Given the description of an element on the screen output the (x, y) to click on. 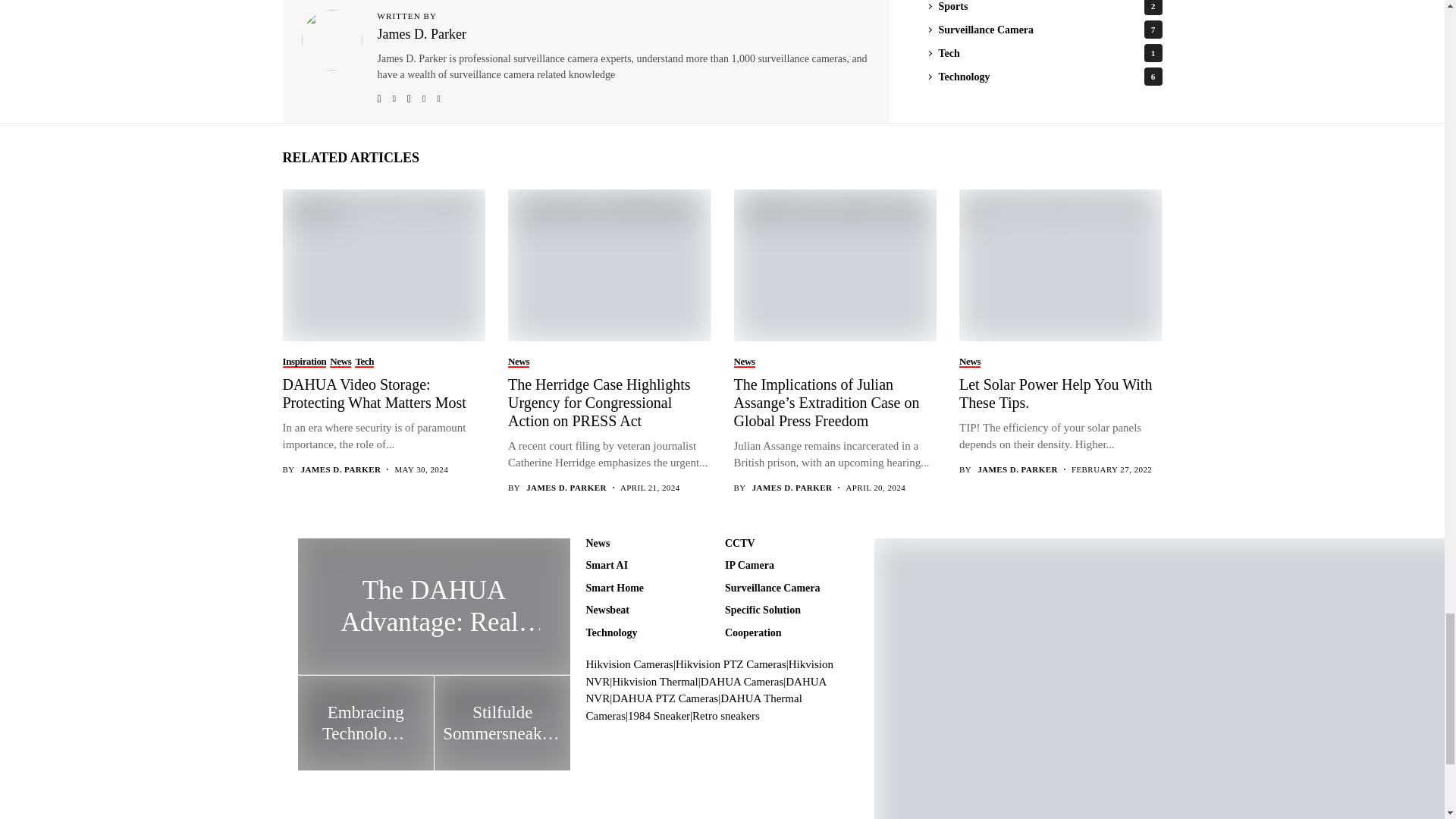
DAHUA Video Storage: Protecting What Matters Most (382, 264)
Posts by James D. Parker (341, 470)
